Given the description of an element on the screen output the (x, y) to click on. 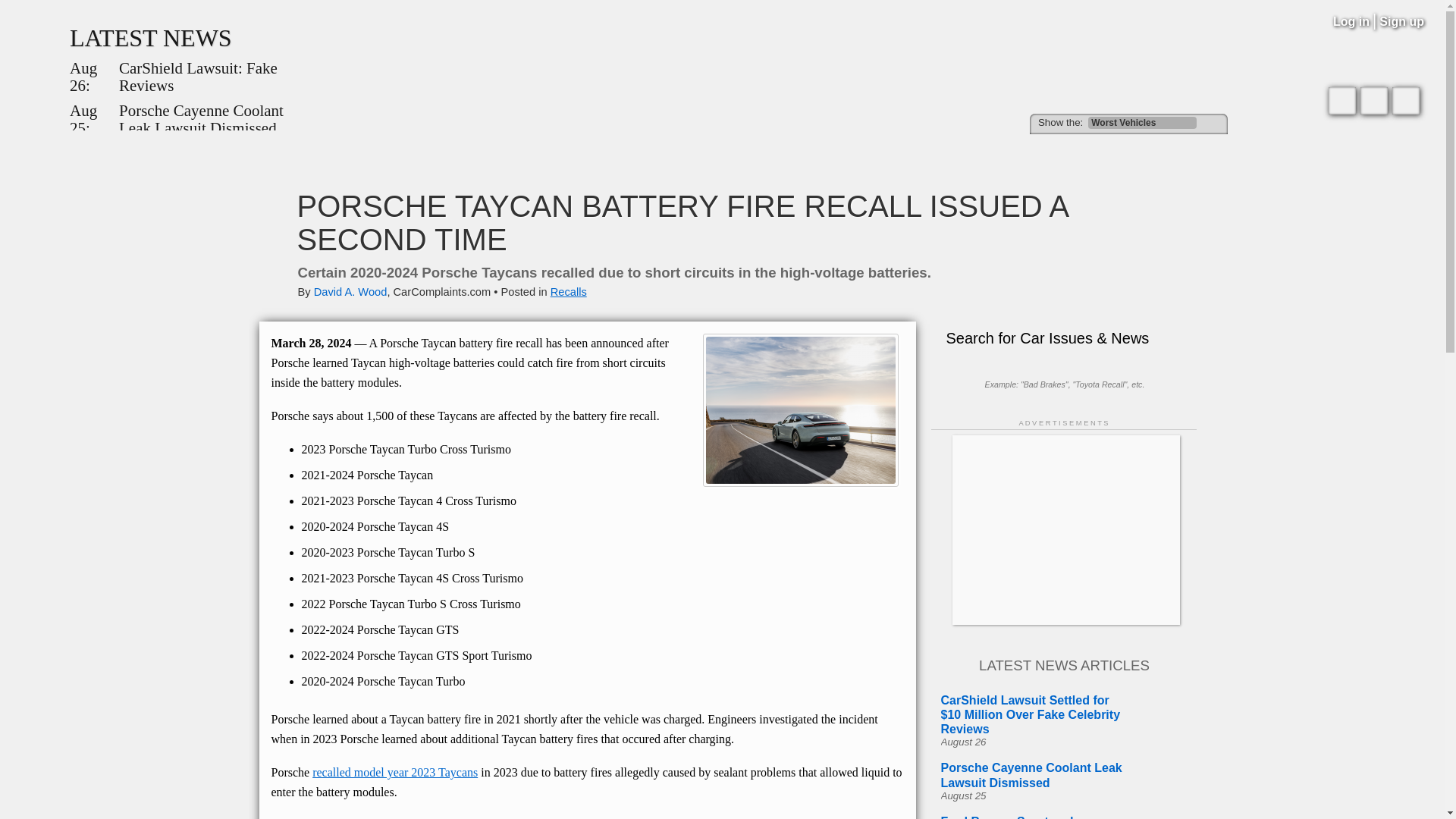
Go (1213, 123)
Worst Vehicles (1141, 122)
Porsche Cayenne Coolant Leak Lawsuit Dismissed (216, 119)
David A. Wood (350, 291)
Porsche Cayenne Coolant Leak Lawsuit Dismissed (216, 119)
recalled model year 2023 Taycans (395, 771)
car problem news (455, 153)
LATEST NEWS (150, 37)
search car problems (1111, 153)
Go (1213, 123)
